Given the description of an element on the screen output the (x, y) to click on. 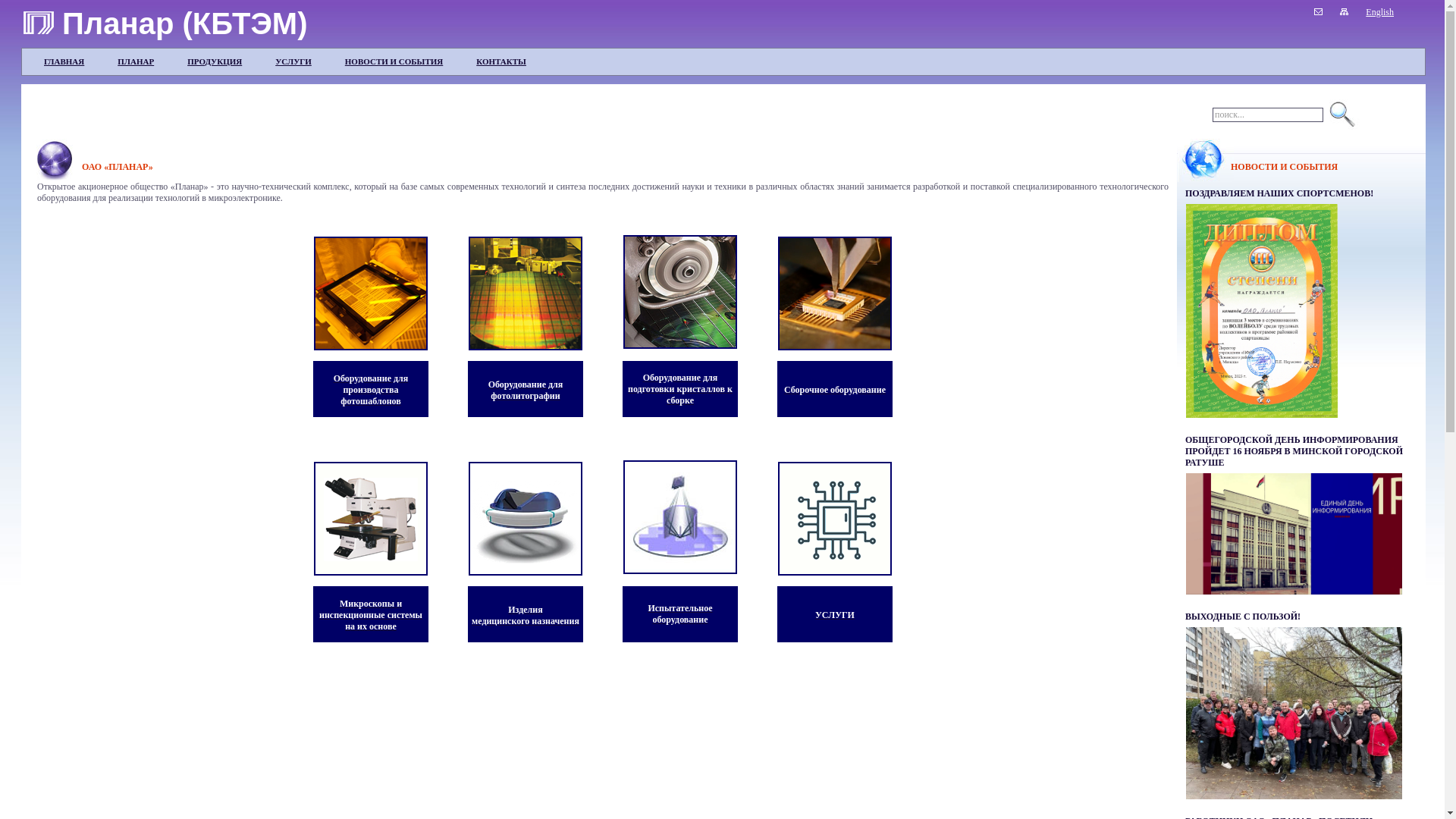
English Element type: text (1379, 11)
